Given the description of an element on the screen output the (x, y) to click on. 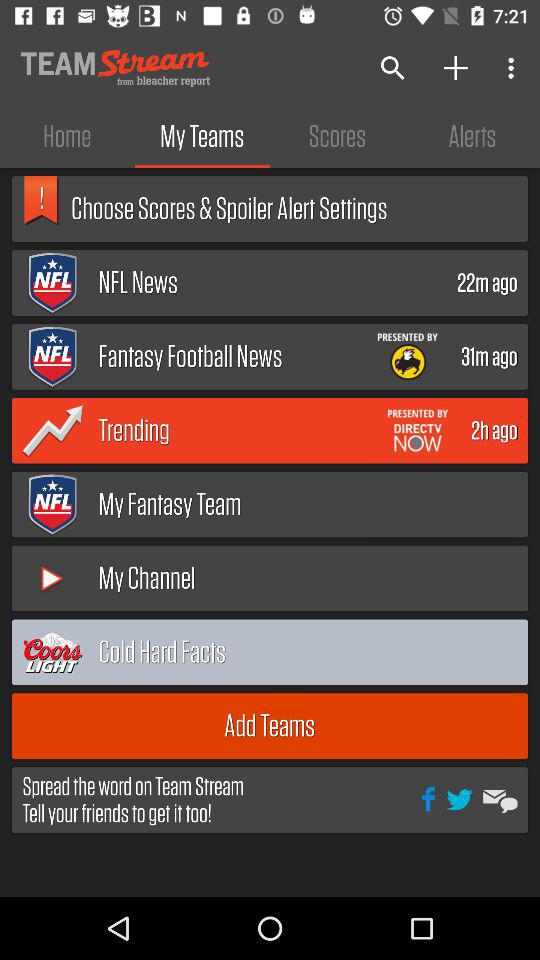
outline page (474, 651)
